Given the description of an element on the screen output the (x, y) to click on. 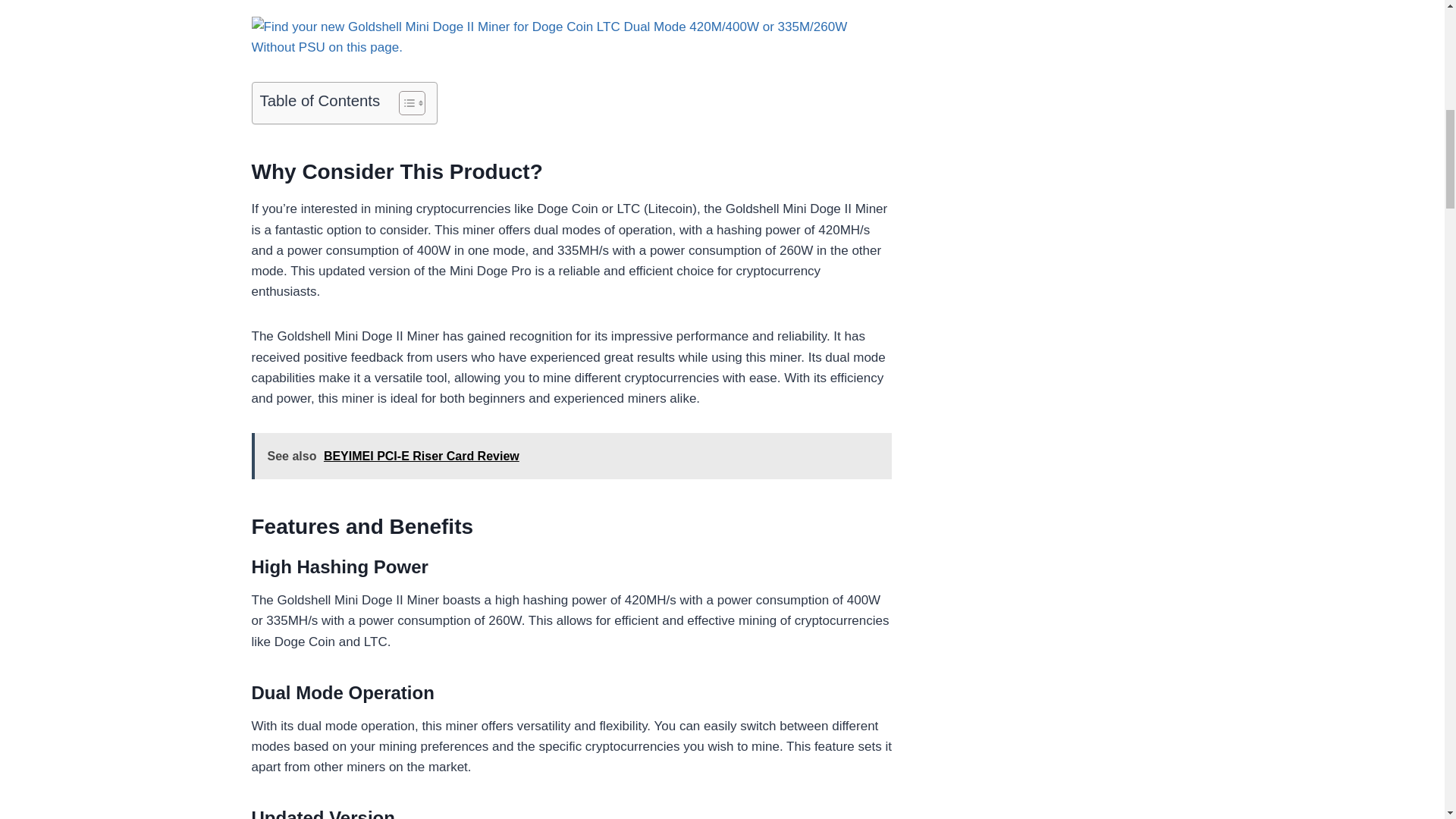
See also  BEYIMEI PCI-E Riser Card Review (571, 456)
